Given the description of an element on the screen output the (x, y) to click on. 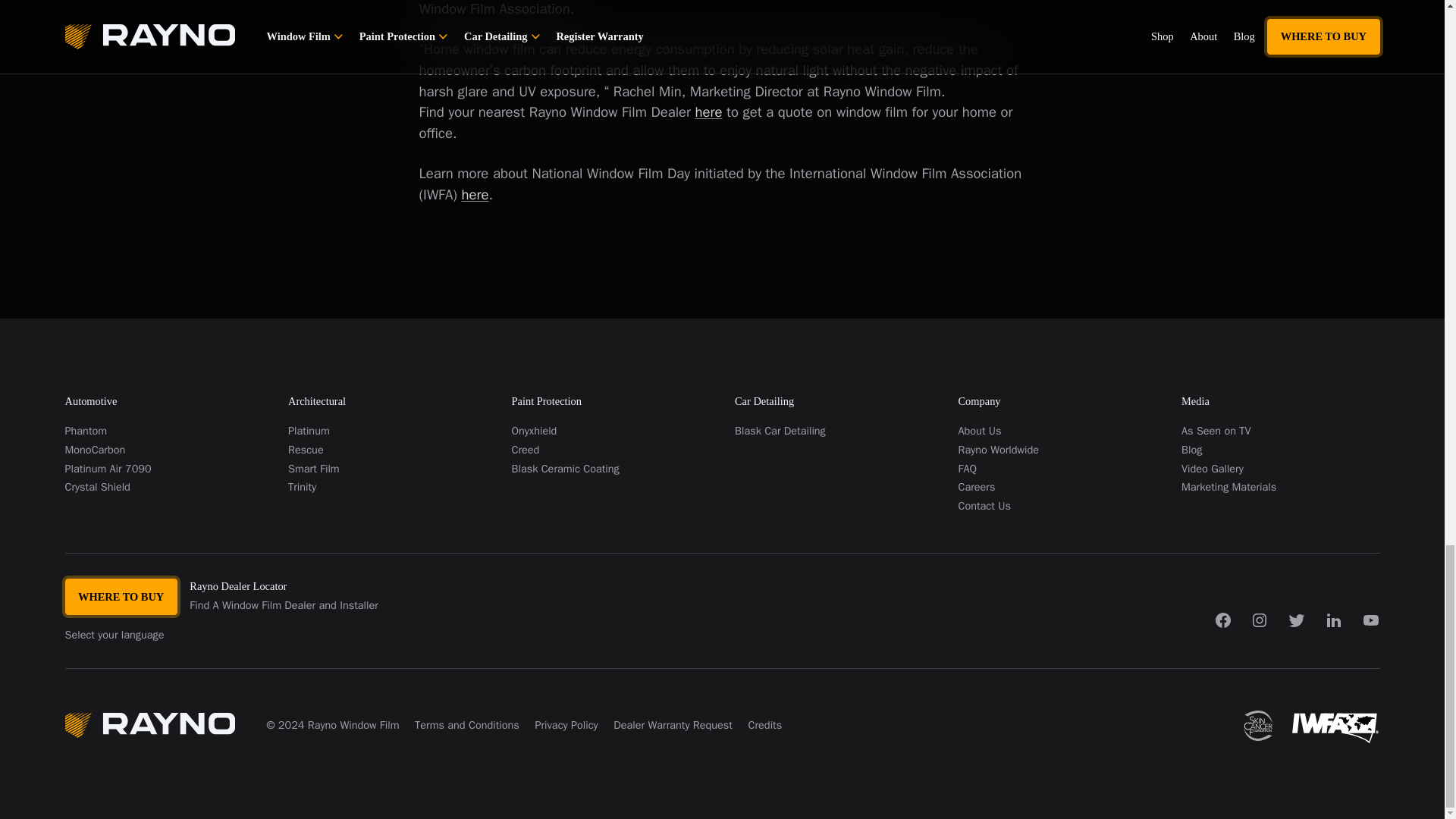
MonoCarbon (164, 449)
Platinum (387, 430)
Phantom (164, 430)
Platinum Air 7090 (164, 468)
Crystal Shield (164, 486)
